Given the description of an element on the screen output the (x, y) to click on. 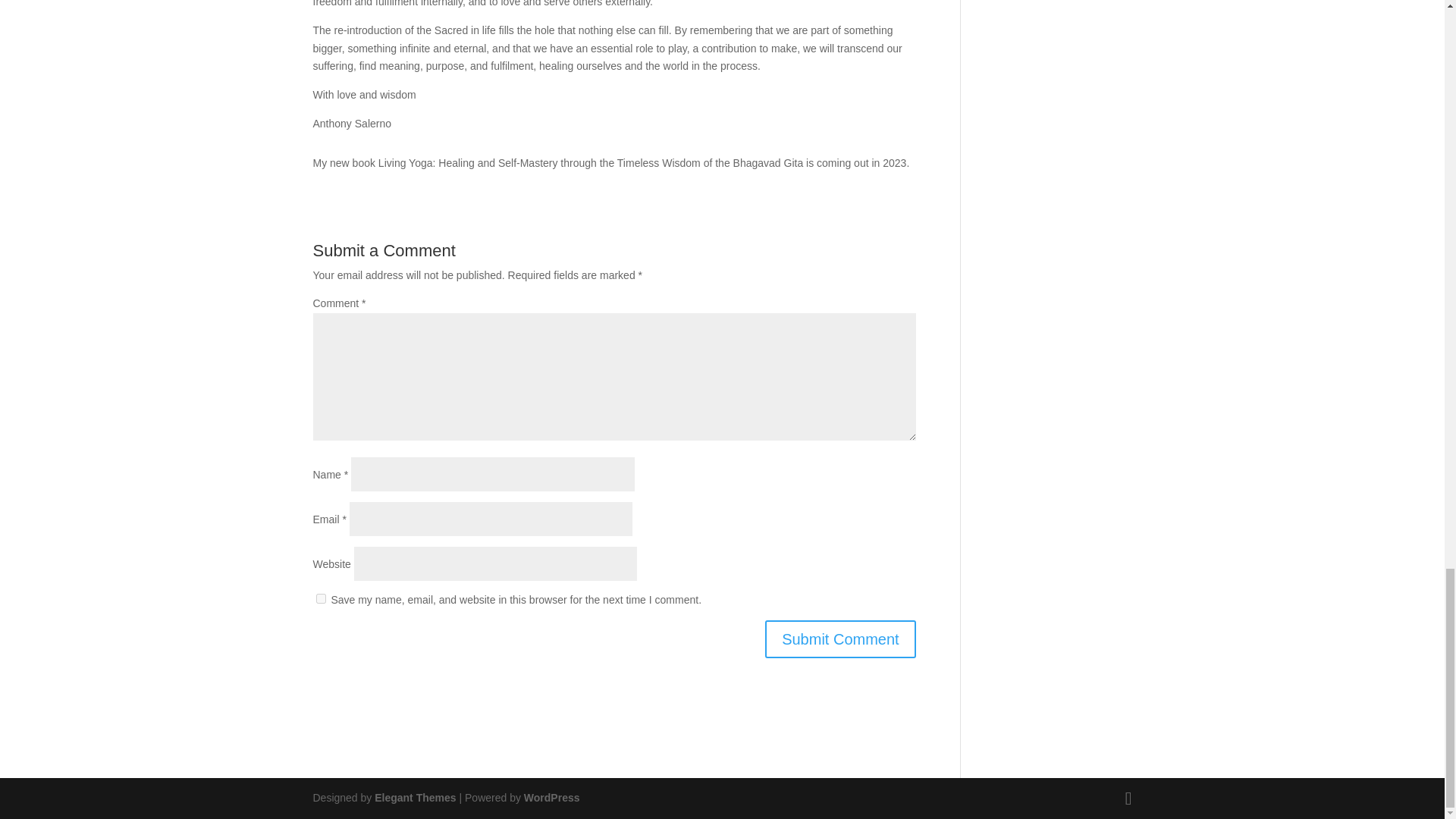
Submit Comment (840, 638)
Submit Comment (840, 638)
Premium WordPress Themes (414, 797)
WordPress (551, 797)
yes (319, 598)
Elegant Themes (414, 797)
